Given the description of an element on the screen output the (x, y) to click on. 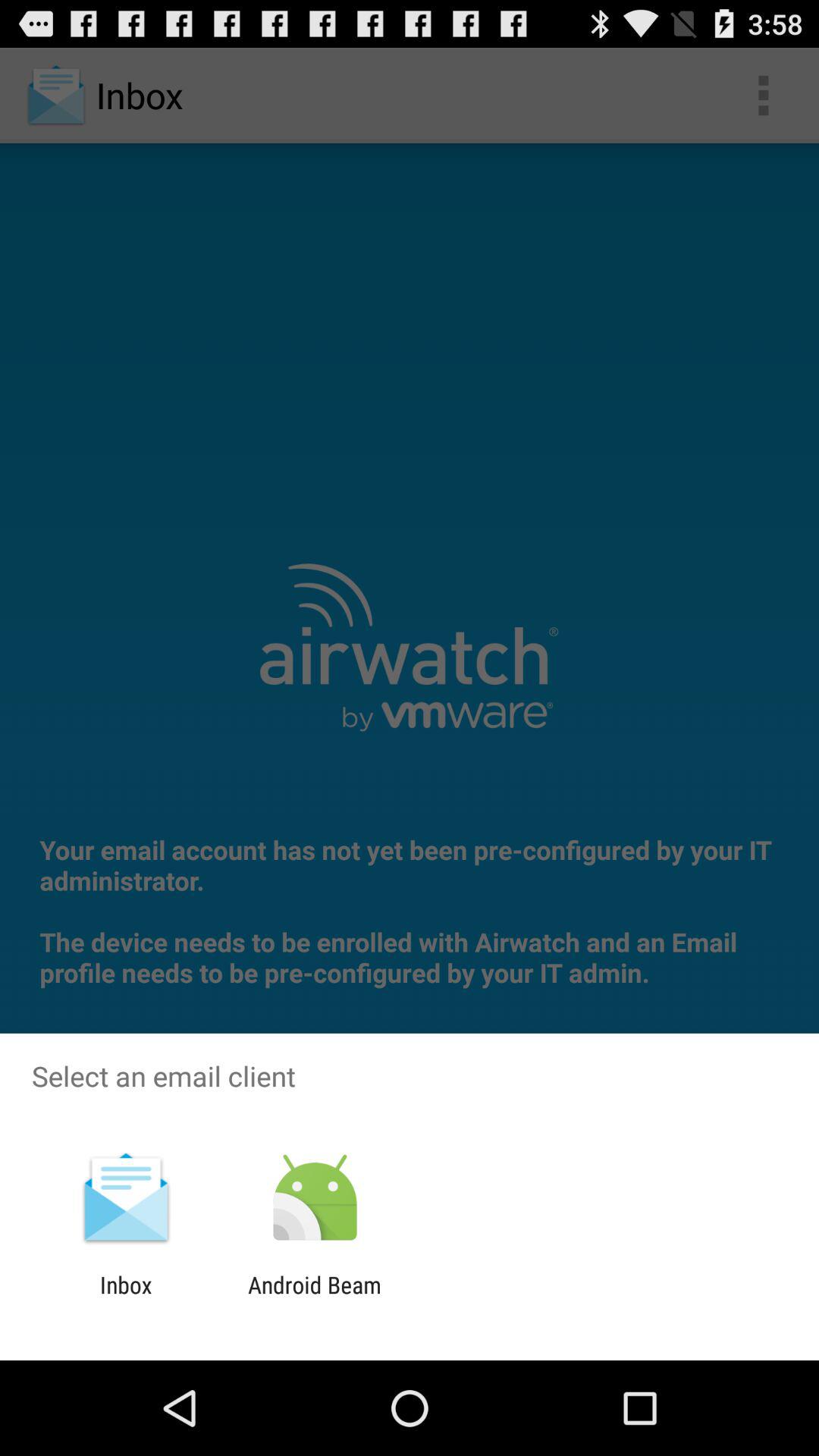
choose icon to the right of inbox (314, 1298)
